Given the description of an element on the screen output the (x, y) to click on. 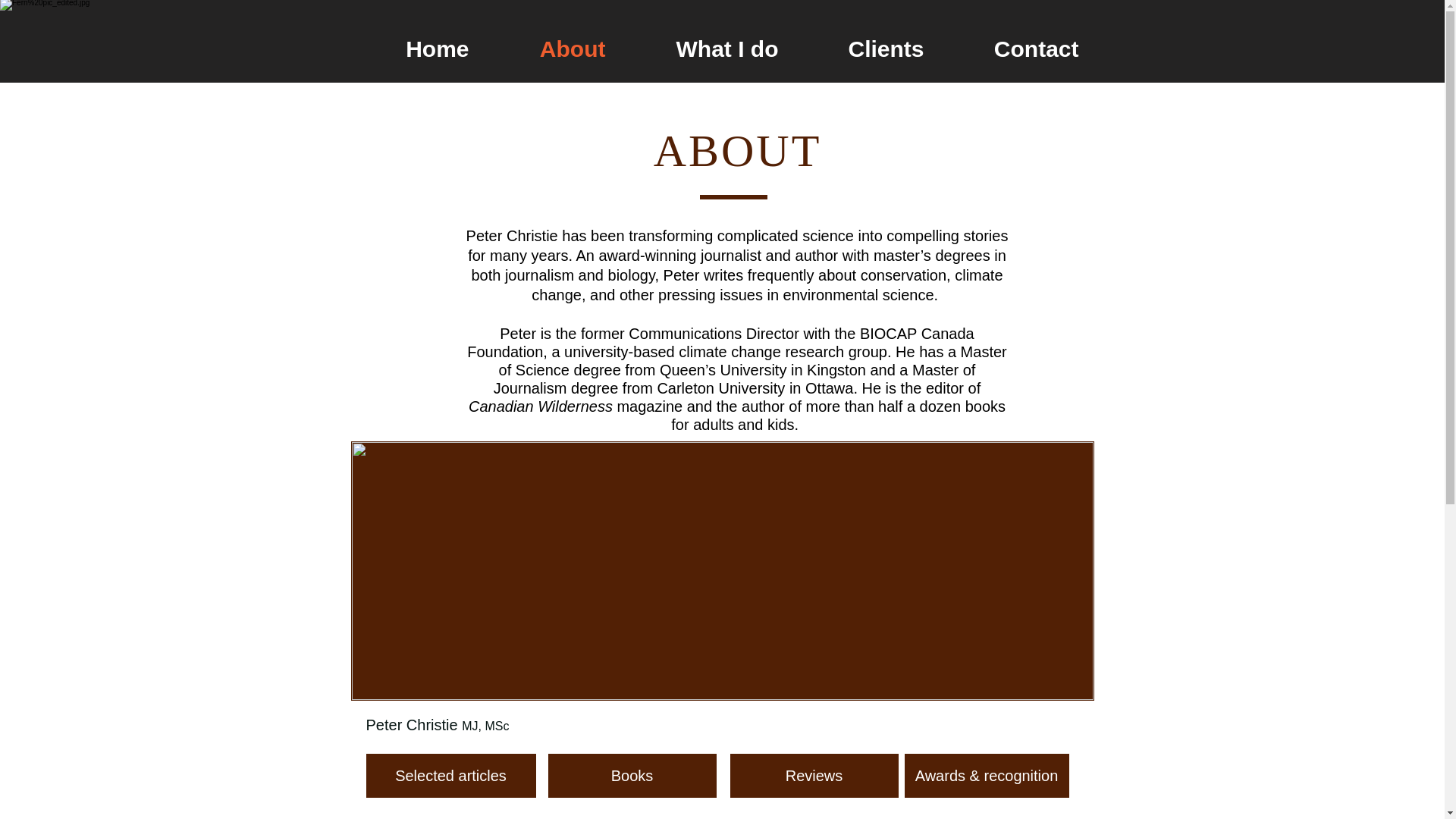
Books (631, 775)
Clients (866, 48)
About (551, 48)
Home (416, 48)
What I do (706, 48)
Contact (1016, 48)
Selected articles (450, 775)
Reviews (813, 775)
